Given the description of an element on the screen output the (x, y) to click on. 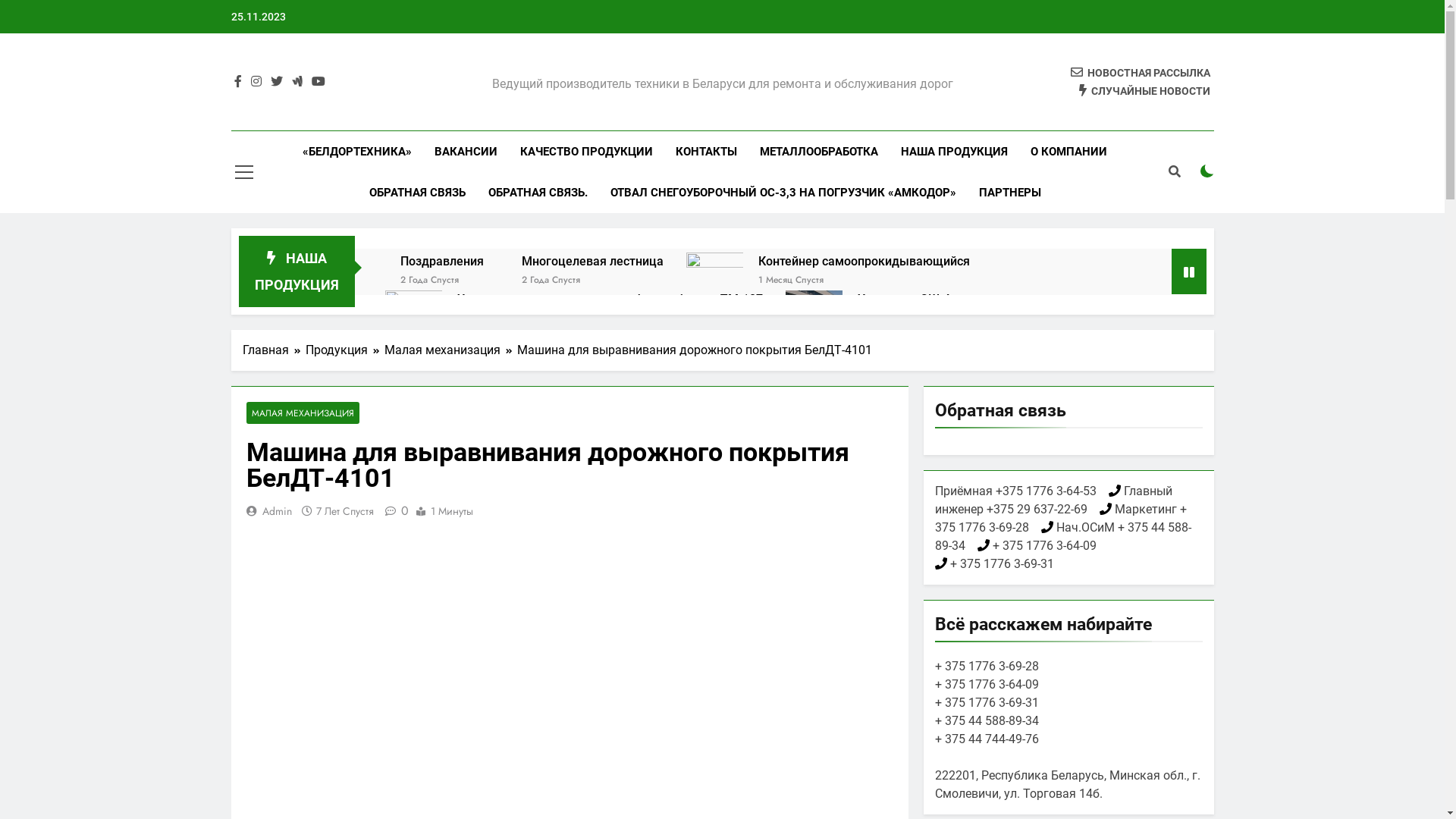
Admin Element type: text (276, 510)
0 Element type: text (393, 510)
